Given the description of an element on the screen output the (x, y) to click on. 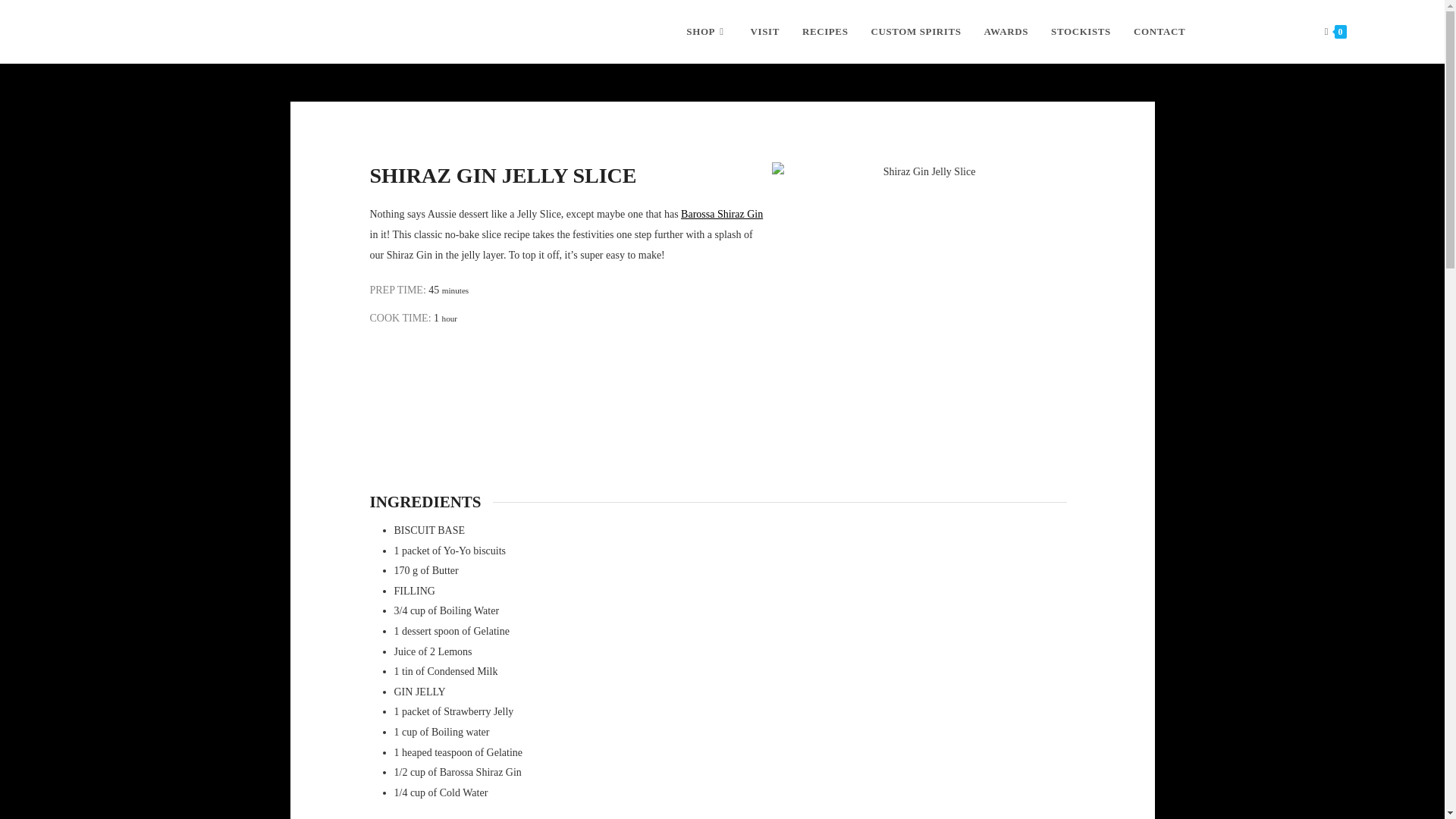
CUSTOM SPIRITS (915, 31)
SHOP (706, 31)
CONTACT (1159, 31)
VISIT (764, 31)
AWARDS (1006, 31)
Barossa Shiraz Gin (721, 214)
RECIPES (825, 31)
BOOK NOW (1254, 31)
STOCKISTS (1080, 31)
